Given the description of an element on the screen output the (x, y) to click on. 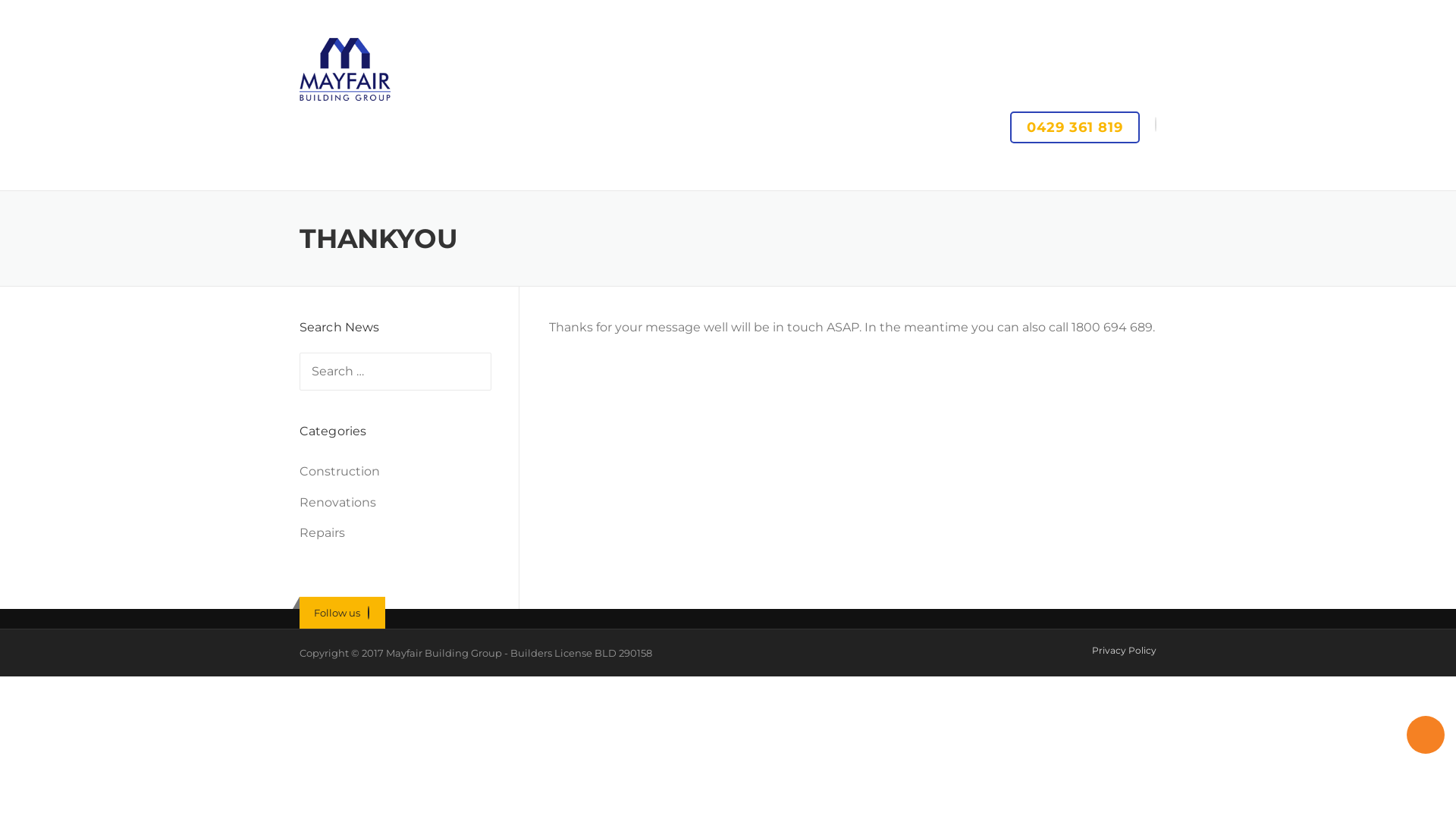
Building GREEN Element type: text (582, 170)
Facebook Element type: hover (367, 612)
Mayfair Building Group Element type: hover (344, 68)
Project Management Element type: text (831, 170)
Services Element type: text (491, 170)
Repairs Element type: text (322, 532)
Construction Element type: text (339, 471)
Contact Element type: text (1128, 170)
Privacy Policy Element type: text (1124, 650)
Blog Element type: text (1014, 170)
0429 361 819 Element type: text (1074, 127)
Renovations Element type: text (337, 502)
Home Element type: text (426, 170)
Email Element type: hover (1155, 124)
Insurance Builders Element type: text (700, 170)
Inspections Element type: text (944, 170)
Search Element type: text (41, 17)
About Element type: text (1070, 170)
